Given the description of an element on the screen output the (x, y) to click on. 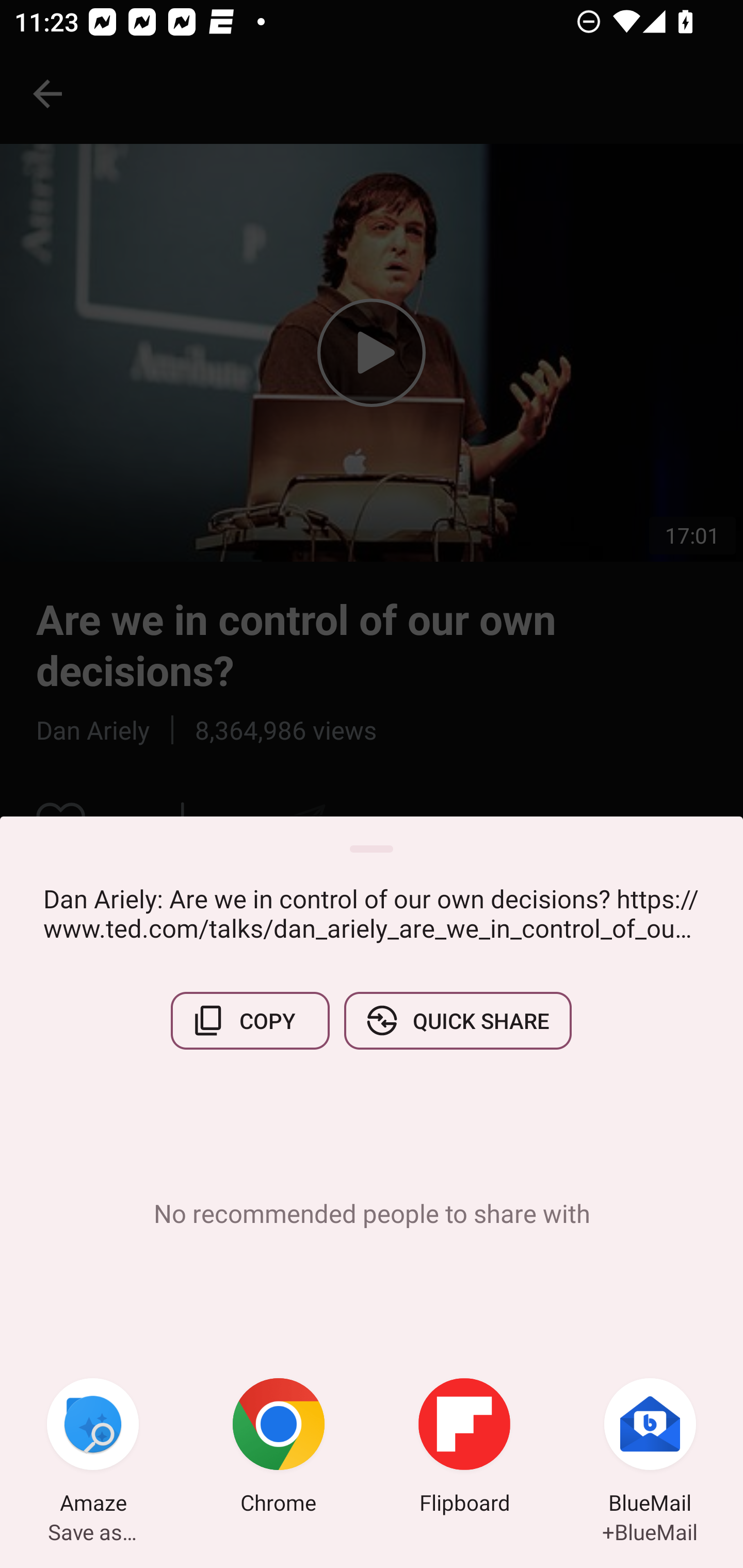
COPY (249, 1020)
QUICK SHARE (457, 1020)
Amaze Save as… (92, 1448)
Chrome (278, 1448)
Flipboard (464, 1448)
BlueMail +BlueMail (650, 1448)
